Given the description of an element on the screen output the (x, y) to click on. 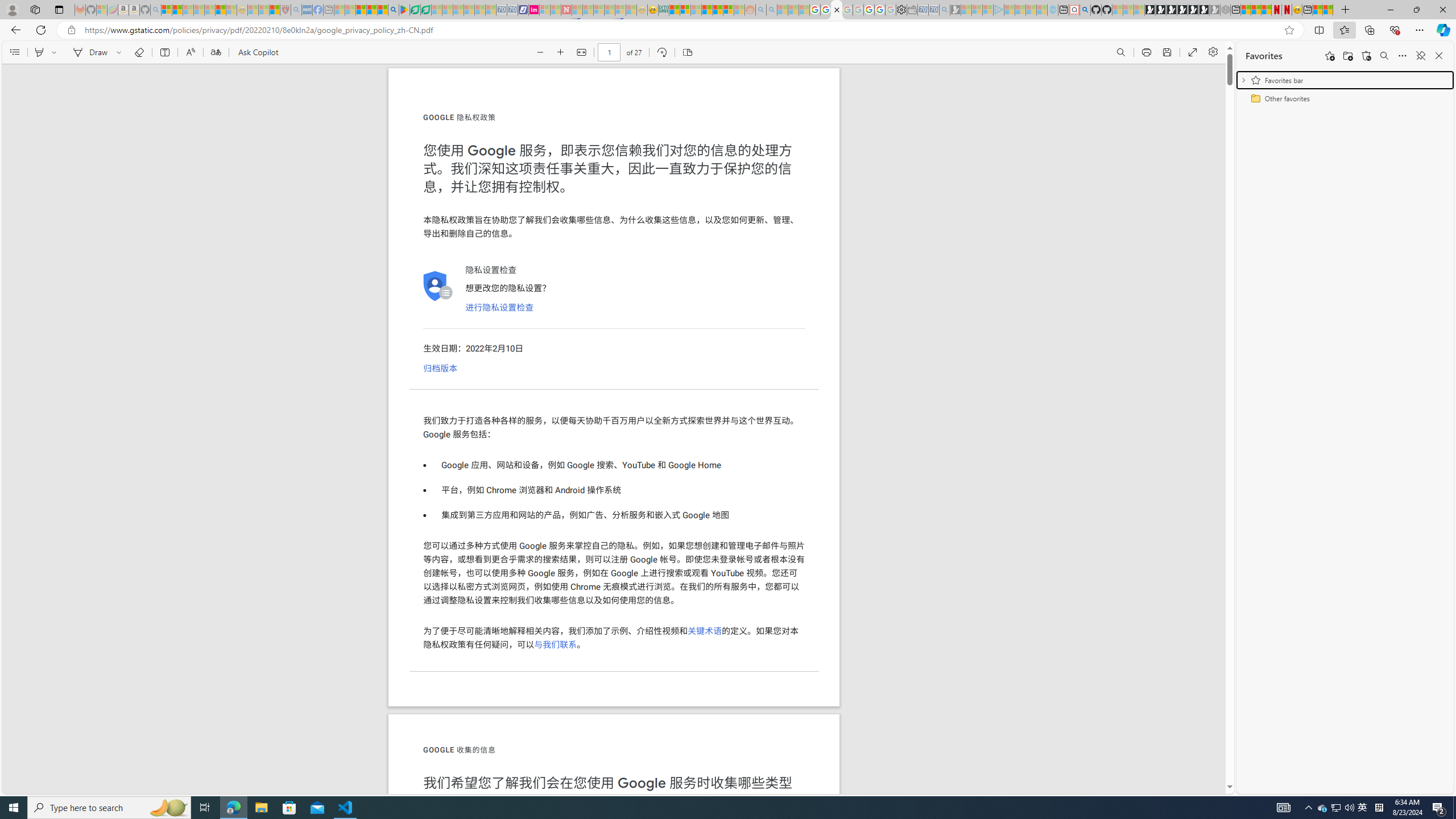
Bluey: Let's Play! - Apps on Google Play (404, 9)
